Given the description of an element on the screen output the (x, y) to click on. 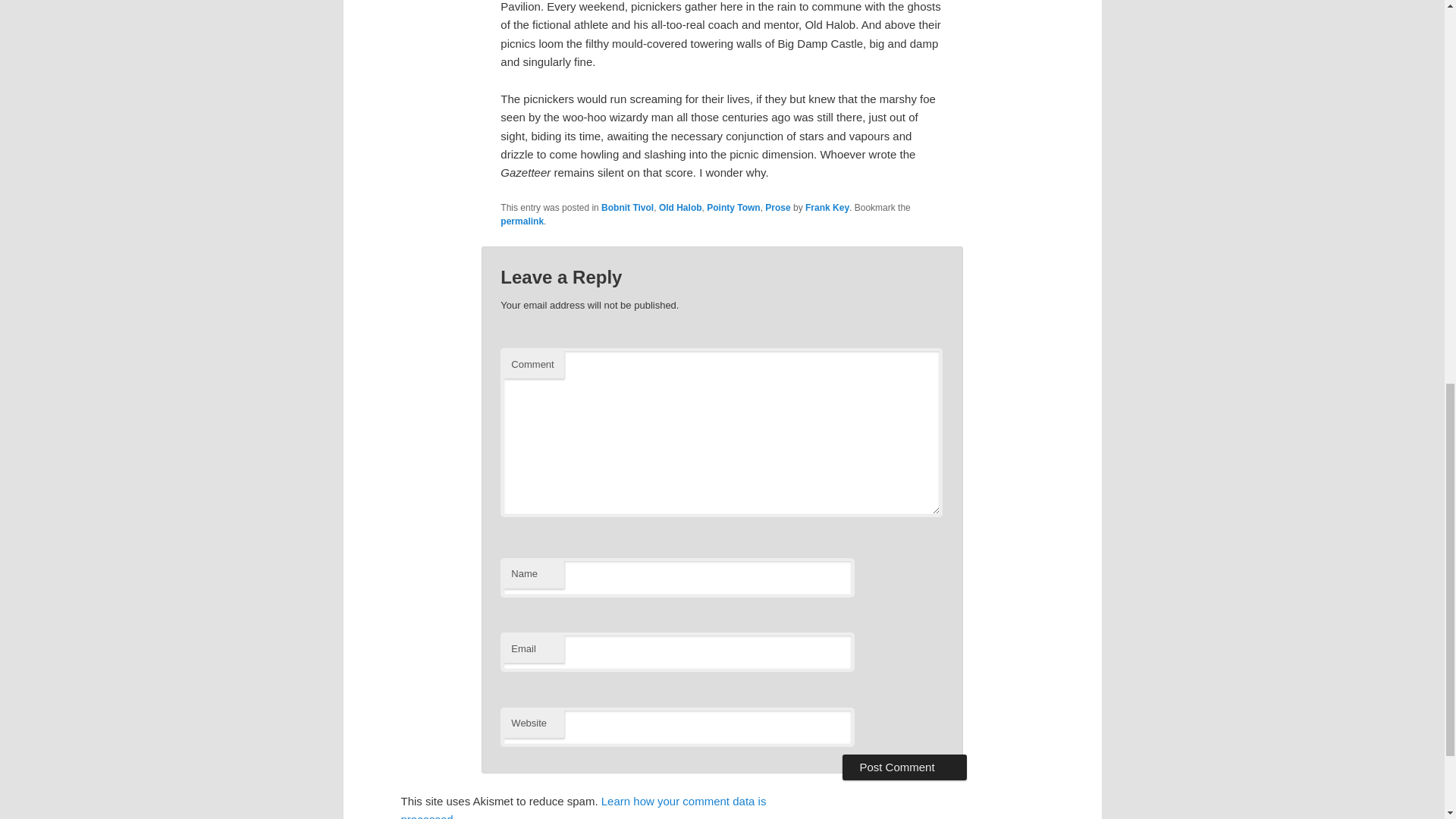
Learn how your comment data is processed (582, 806)
Old Halob (680, 207)
Post Comment (904, 767)
Frank Key (826, 207)
Bobnit Tivol (627, 207)
Prose (777, 207)
permalink (521, 221)
Post Comment (904, 767)
Pointy Town (733, 207)
Permalink to Big Damp Castle (521, 221)
